Given the description of an element on the screen output the (x, y) to click on. 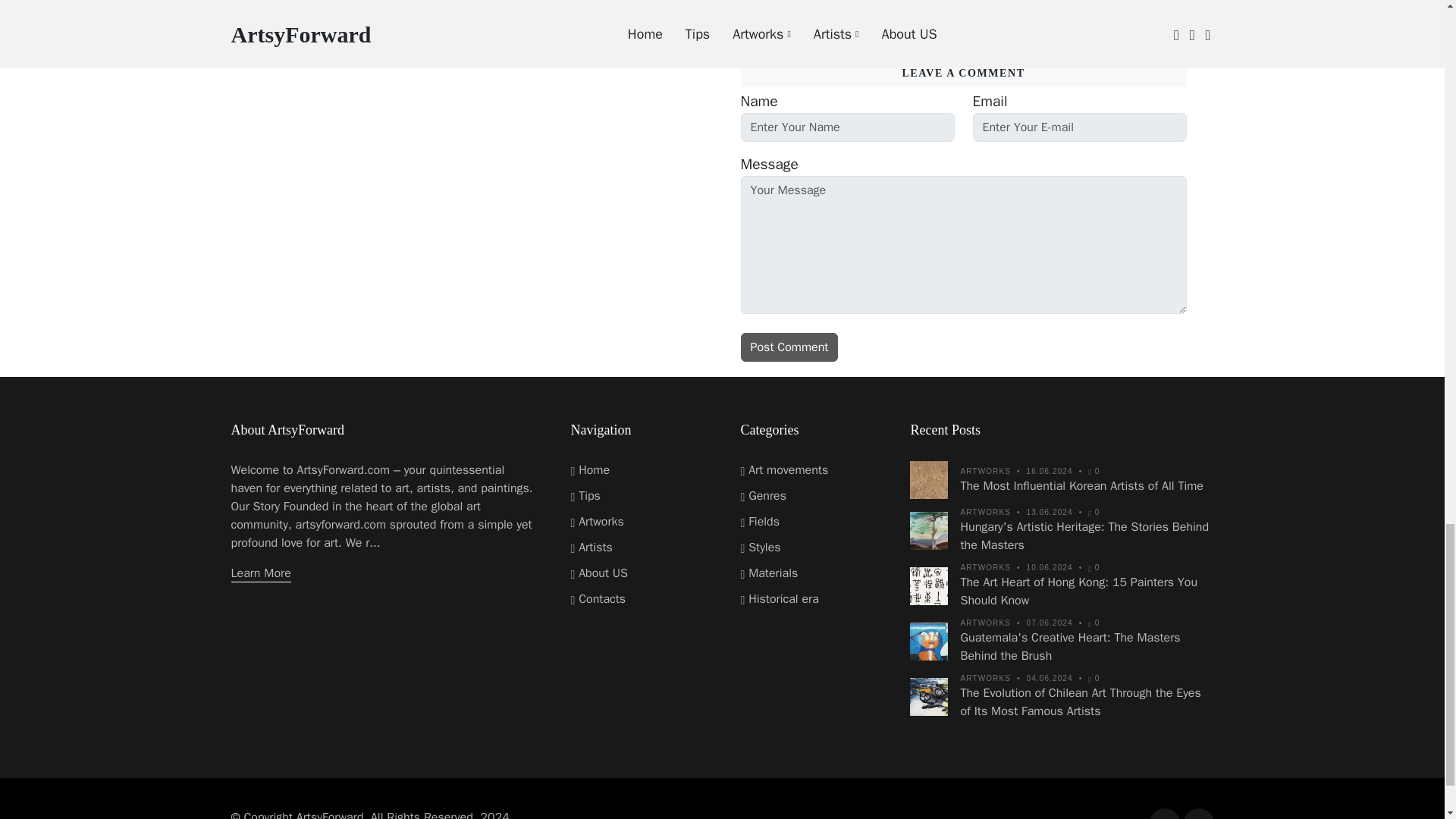
Home (590, 469)
Contacts (598, 598)
Tips (584, 495)
Artists (590, 547)
Post Comment (788, 346)
Learn More (259, 573)
Post Comment (788, 346)
About US (598, 572)
Artworks (596, 521)
